Given the description of an element on the screen output the (x, y) to click on. 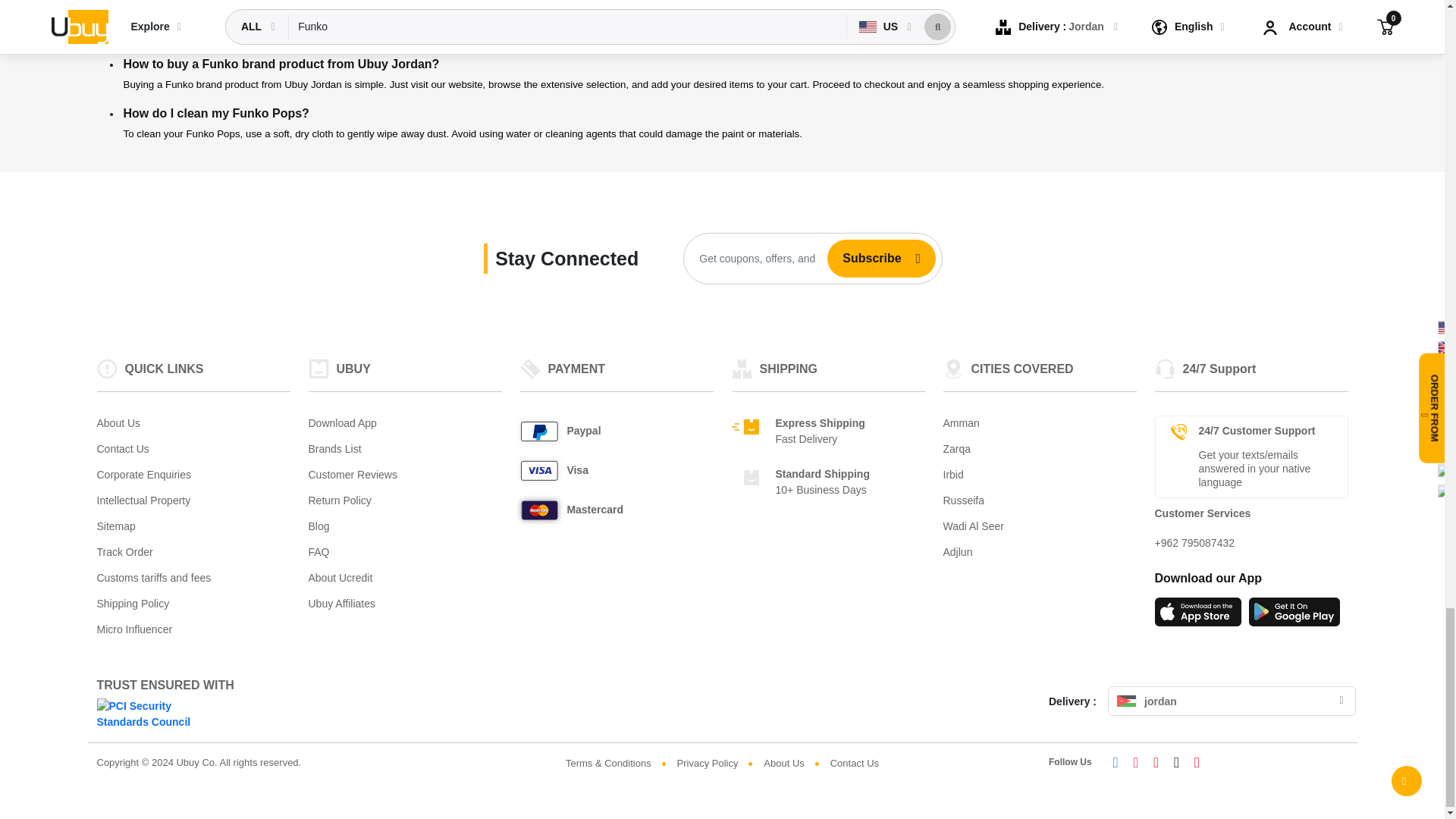
Subscribe (865, 258)
